Given the description of an element on the screen output the (x, y) to click on. 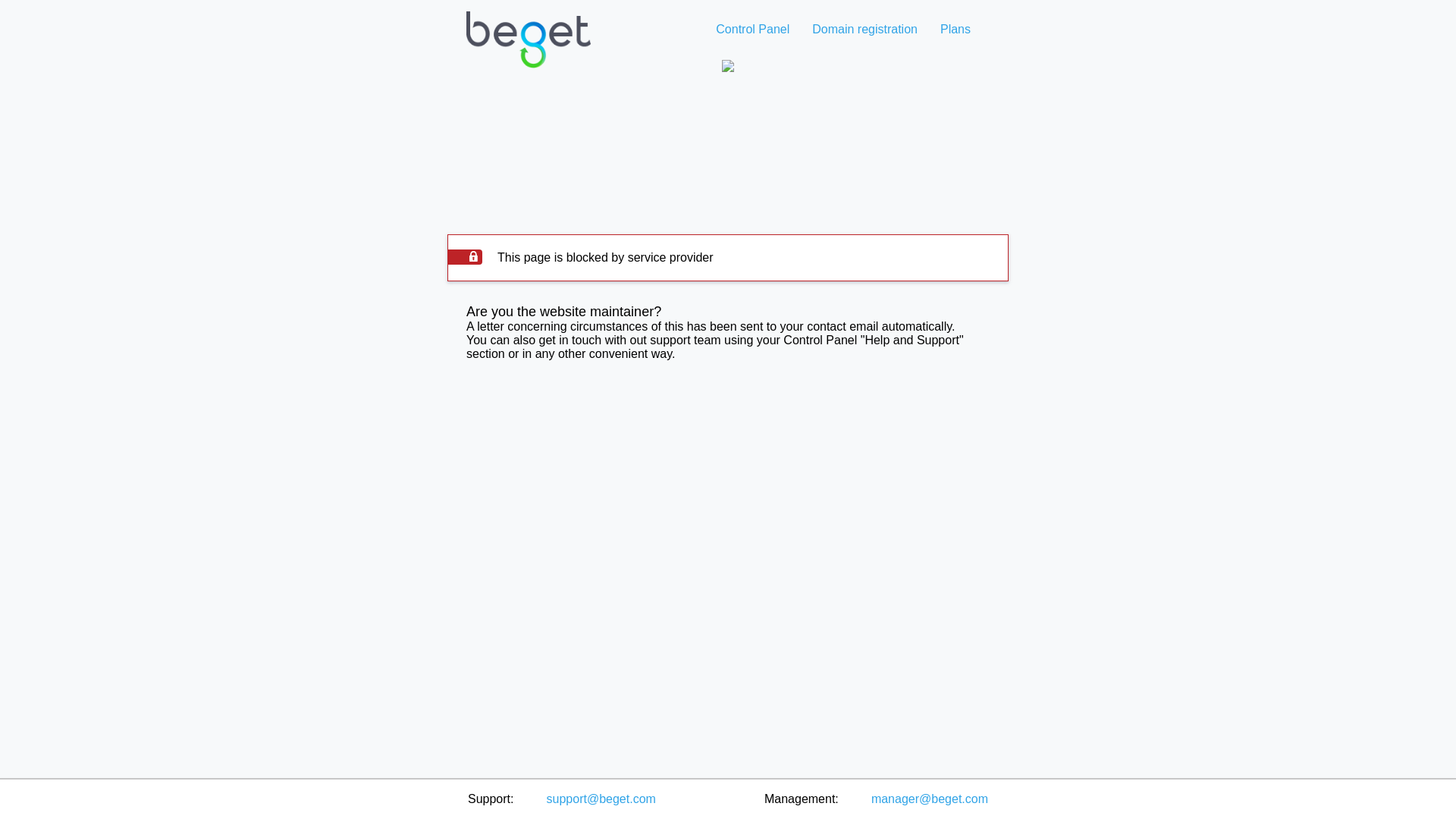
Domain registration (864, 29)
Control Panel (752, 29)
Plans (954, 29)
Web hosting home page (528, 51)
